Given the description of an element on the screen output the (x, y) to click on. 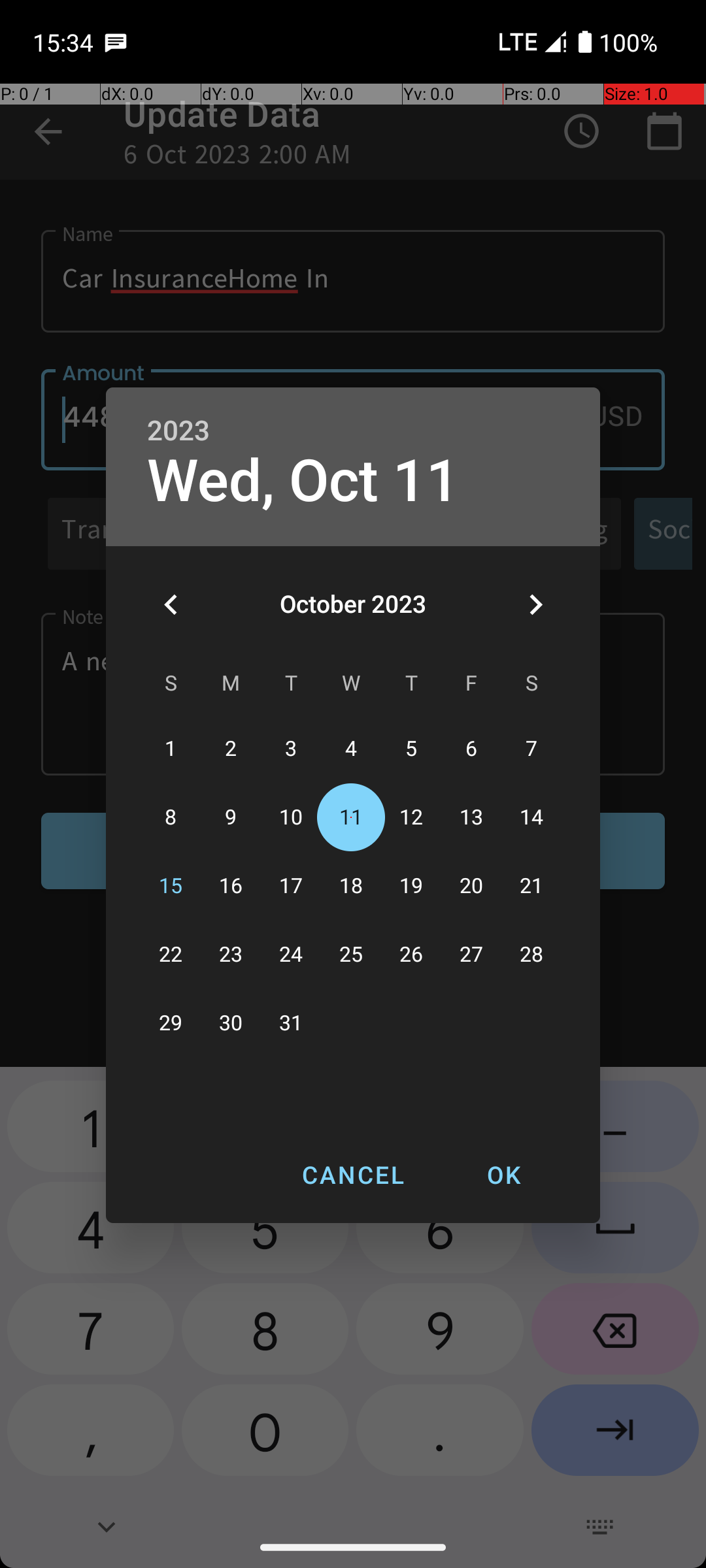
Wed, Oct 11 Element type: android.widget.TextView (303, 480)
